Given the description of an element on the screen output the (x, y) to click on. 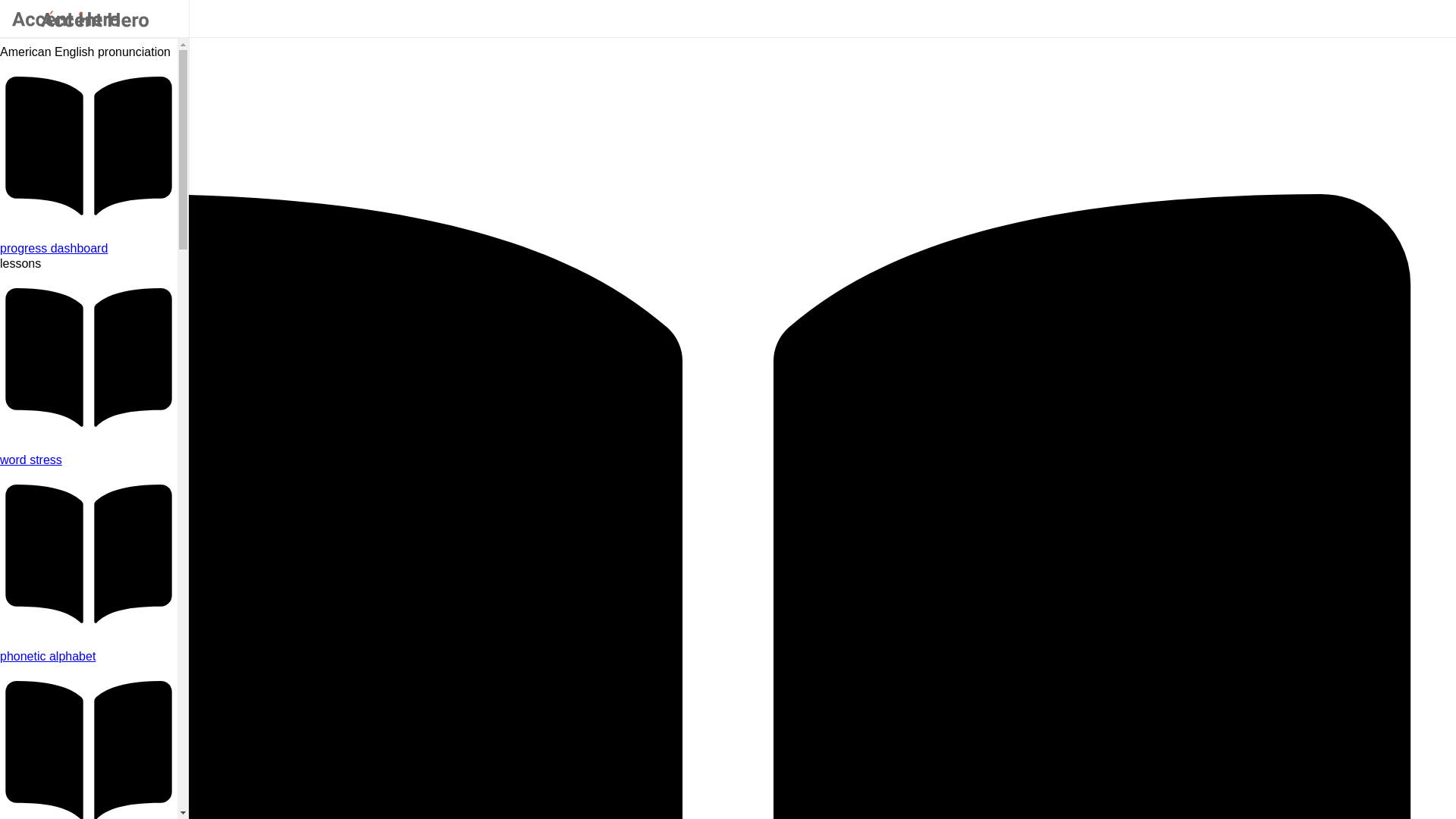
Learn how word stress influences your accent (88, 459)
Learn to precisely articulate each sound (88, 656)
